Given the description of an element on the screen output the (x, y) to click on. 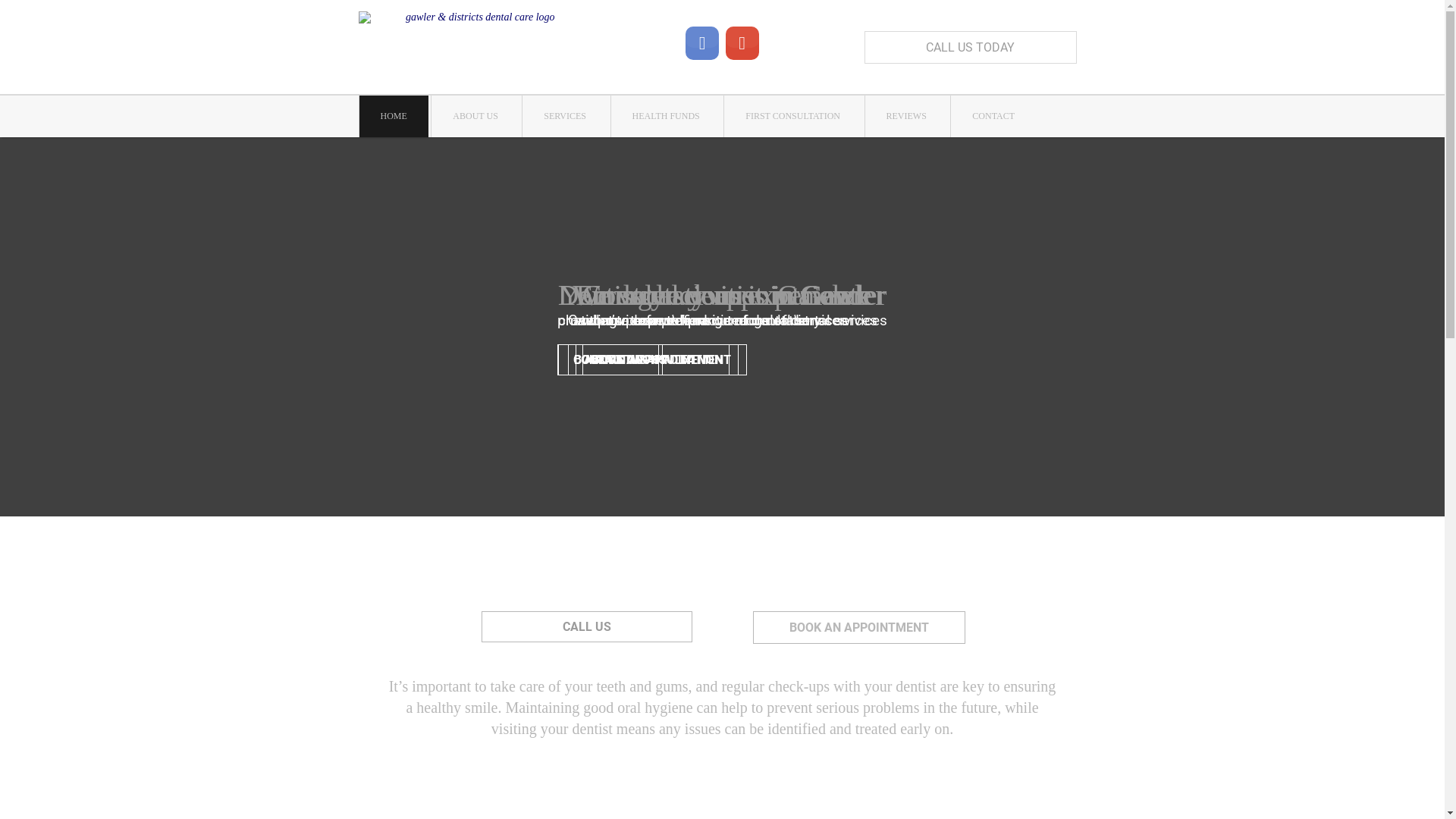
HEALTH FUNDS Element type: text (666, 116)
BOOK AN APPOINTMENT Element type: text (858, 627)
ABOUT US Element type: text (474, 116)
CALL US TODAY Element type: text (970, 47)
gawler dental logo Element type: hover (473, 46)
HOME Element type: text (393, 116)
CONTACT Element type: text (992, 116)
CALL US Element type: text (585, 626)
FIRST CONSULTATION Element type: text (792, 116)
SERVICES Element type: text (564, 116)
REVIEWS Element type: text (905, 116)
